Given the description of an element on the screen output the (x, y) to click on. 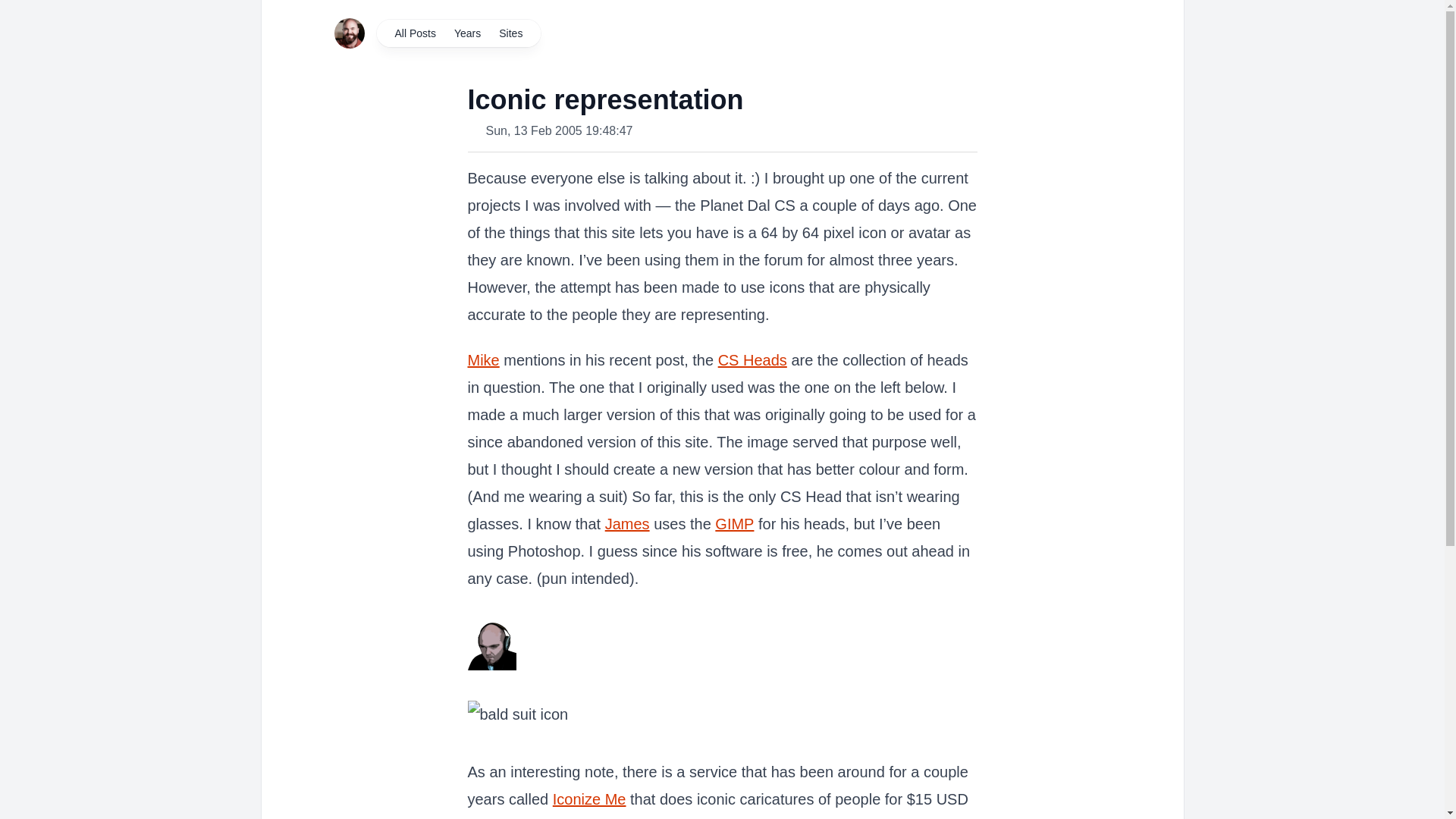
CS Heads (752, 360)
Sites (510, 32)
Years (467, 32)
All Posts (414, 32)
James (627, 523)
Iconize Me (589, 799)
GIMP (734, 523)
Mike (483, 360)
